Given the description of an element on the screen output the (x, y) to click on. 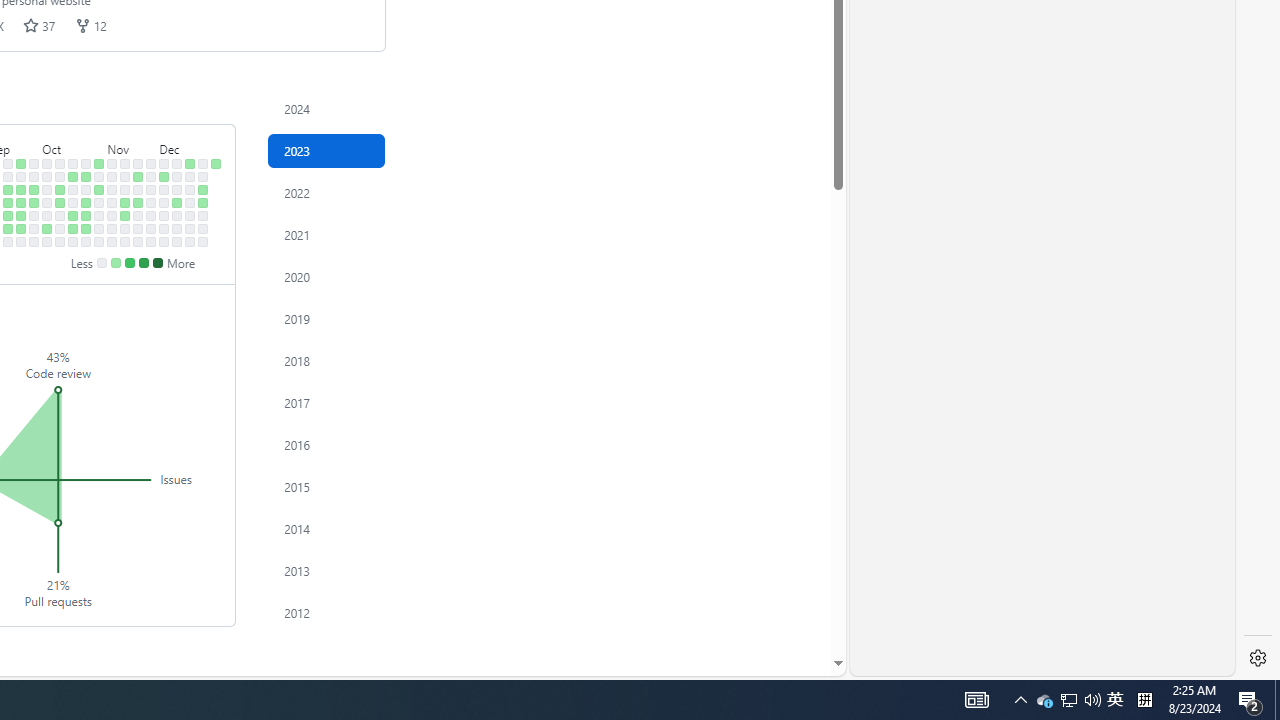
Contribution activity in 2019 (326, 318)
2023 (326, 150)
No contributions on December 19th. (190, 189)
1 contribution on October 11th. (60, 202)
2 contributions on September 17th. (20, 163)
forks (82, 25)
2014 (326, 528)
Contribution activity in 2022 (326, 192)
4 contributions on September 13th. (8, 202)
No contributions on October 3rd. (47, 189)
2 contributions on October 31st. (98, 189)
No contributions on December 6th. (164, 202)
No contributions on December 11th. (177, 176)
2016 (326, 444)
2 contributions on September 15th. (8, 228)
